Given the description of an element on the screen output the (x, y) to click on. 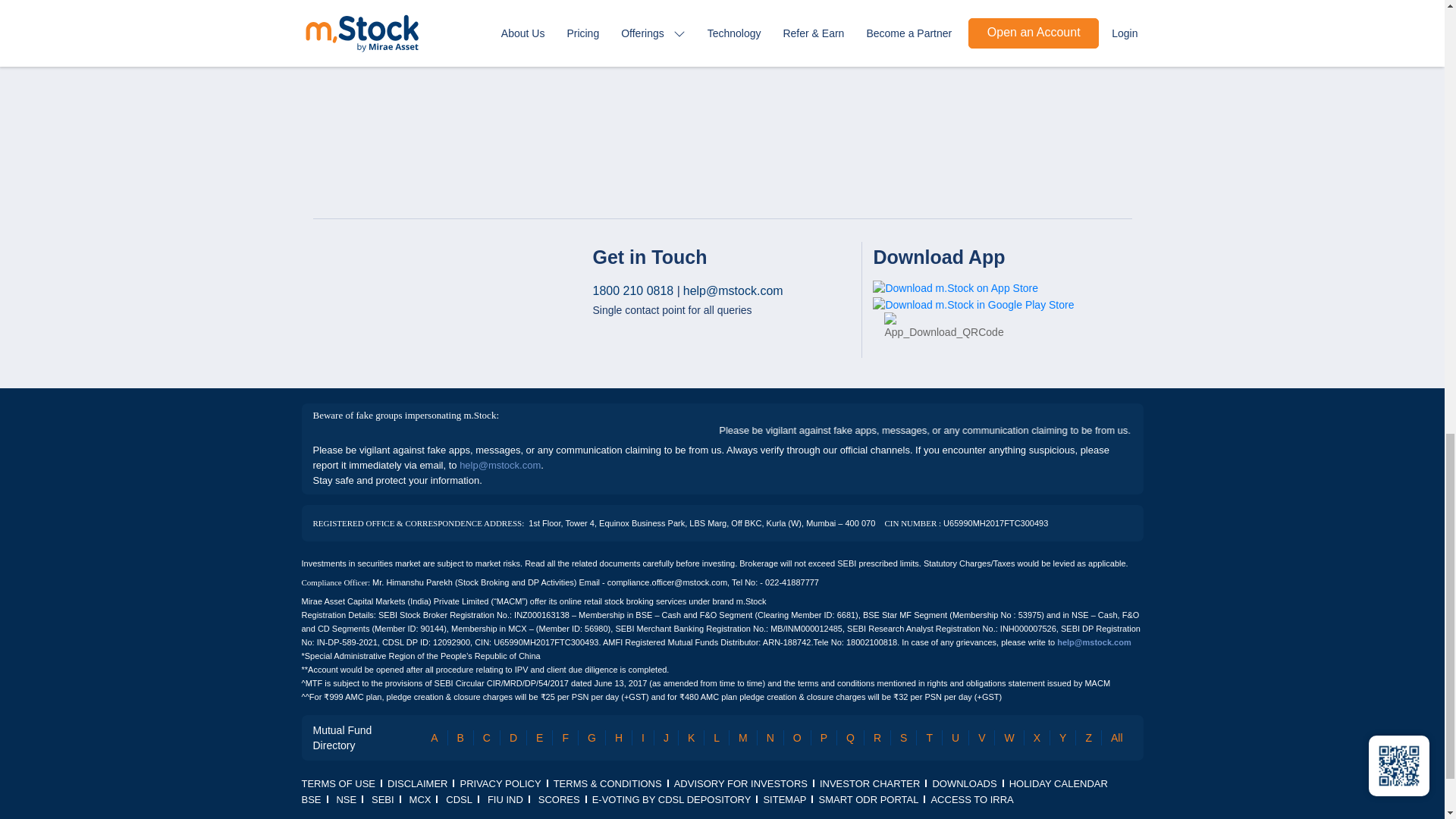
Download Best Trading App (943, 325)
Download Best Trading App (973, 304)
Download Best Share Market App (955, 287)
